Given the description of an element on the screen output the (x, y) to click on. 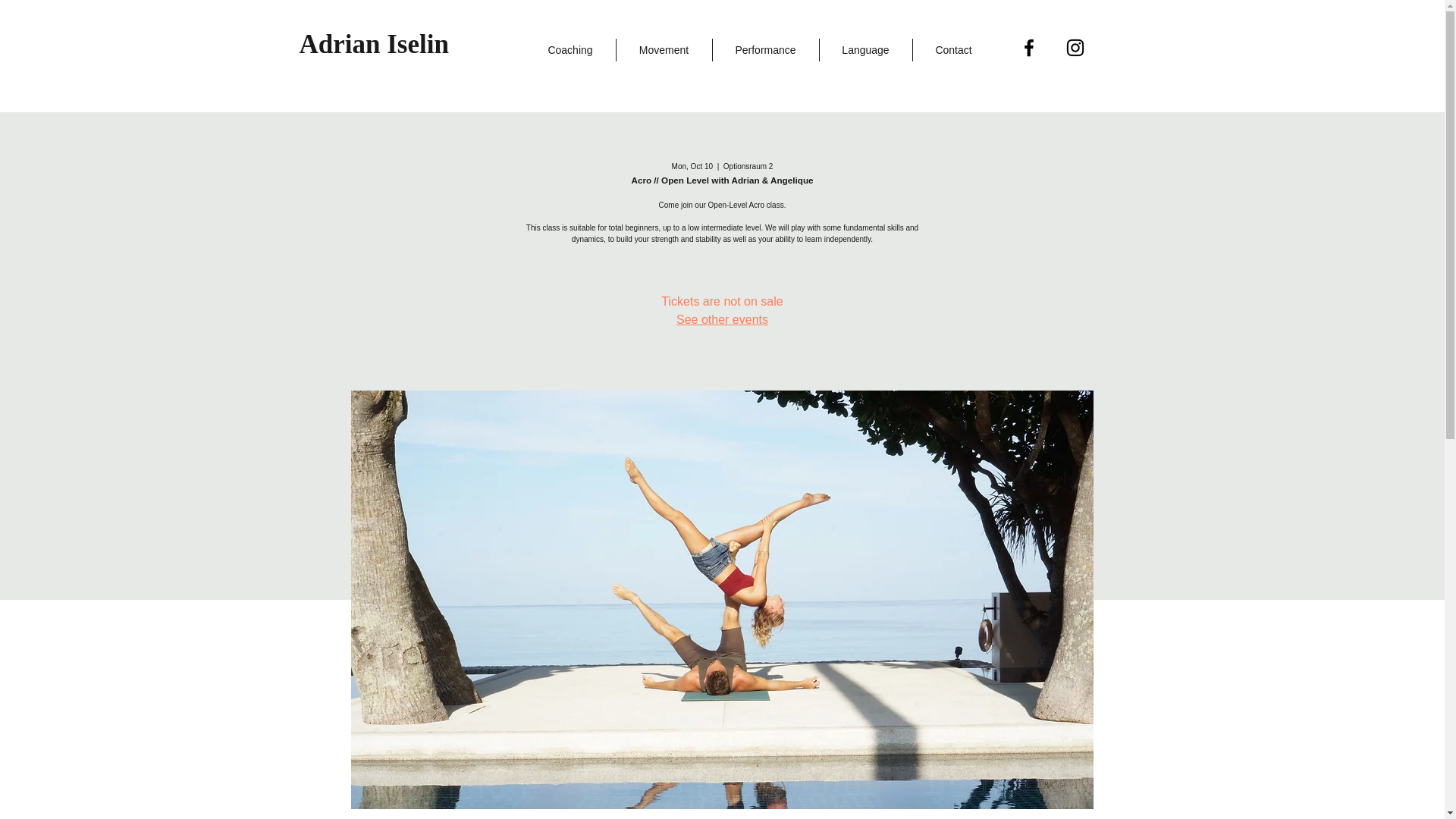
Adrian Iselin (373, 43)
See other events (722, 318)
